Given the description of an element on the screen output the (x, y) to click on. 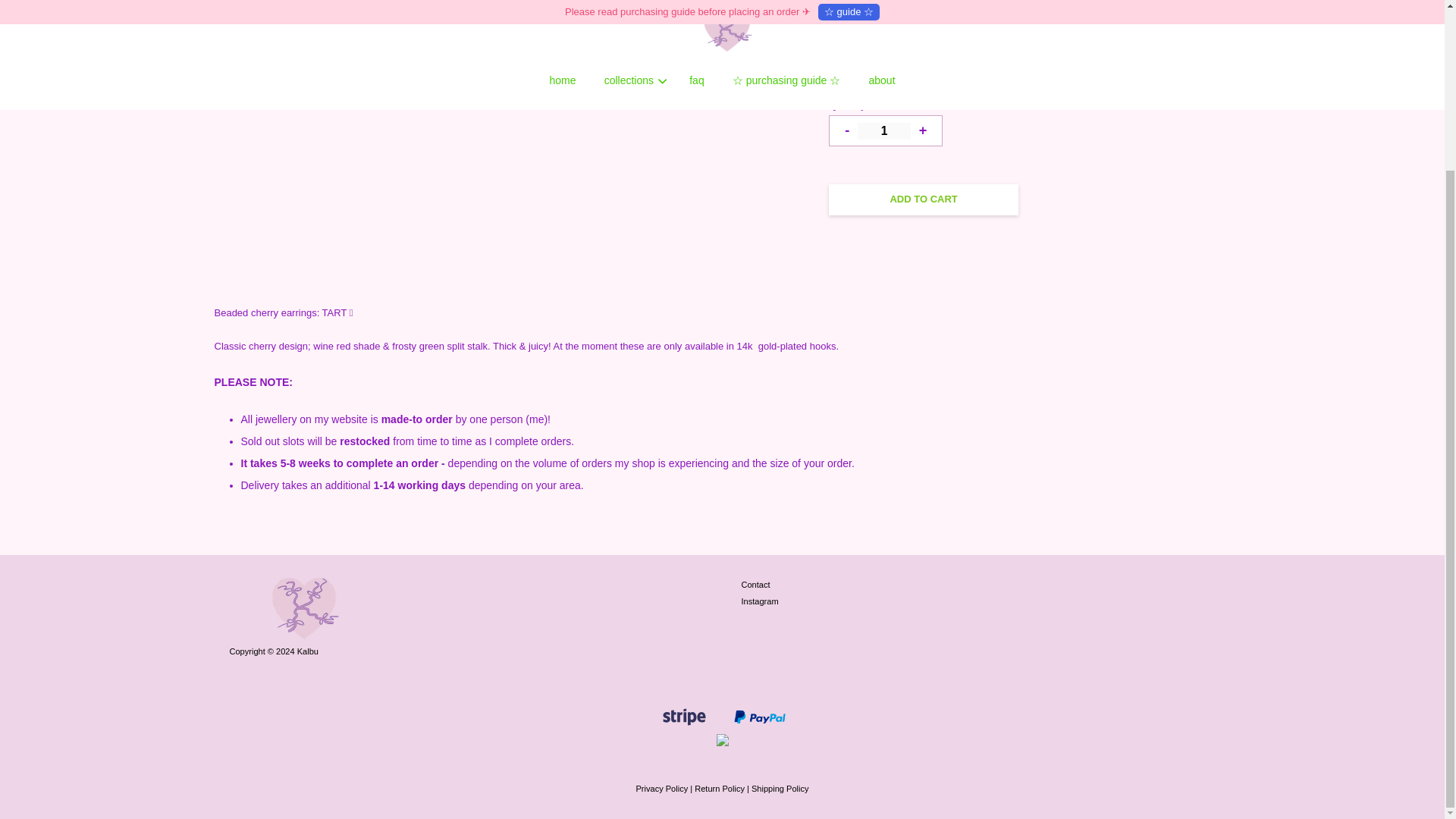
1 (884, 130)
